Given the description of an element on the screen output the (x, y) to click on. 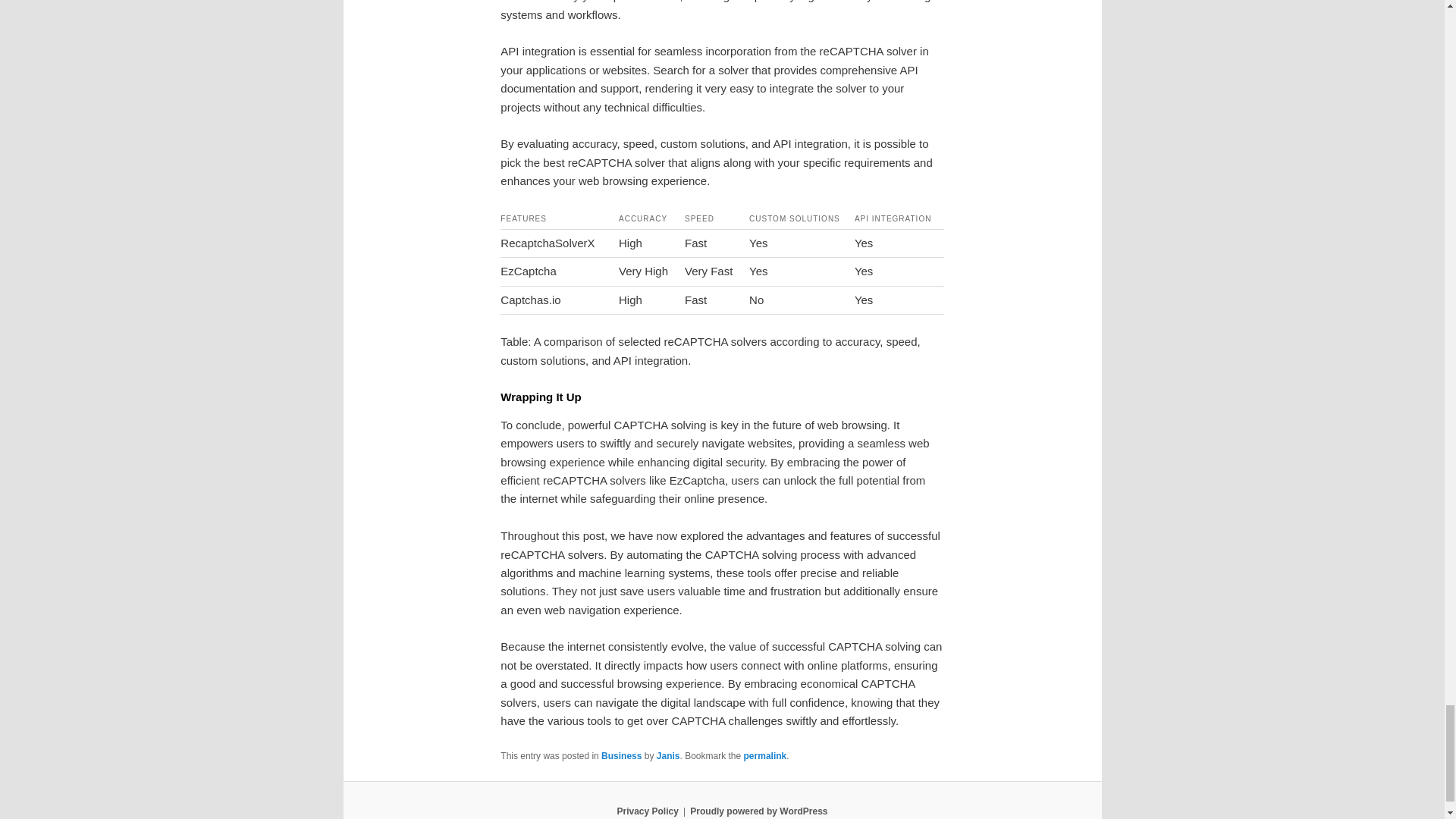
permalink (765, 756)
Business (621, 756)
Proudly powered by WordPress (758, 810)
Janis (667, 756)
Privacy Policy (646, 810)
Semantic Personal Publishing Platform (758, 810)
